Given the description of an element on the screen output the (x, y) to click on. 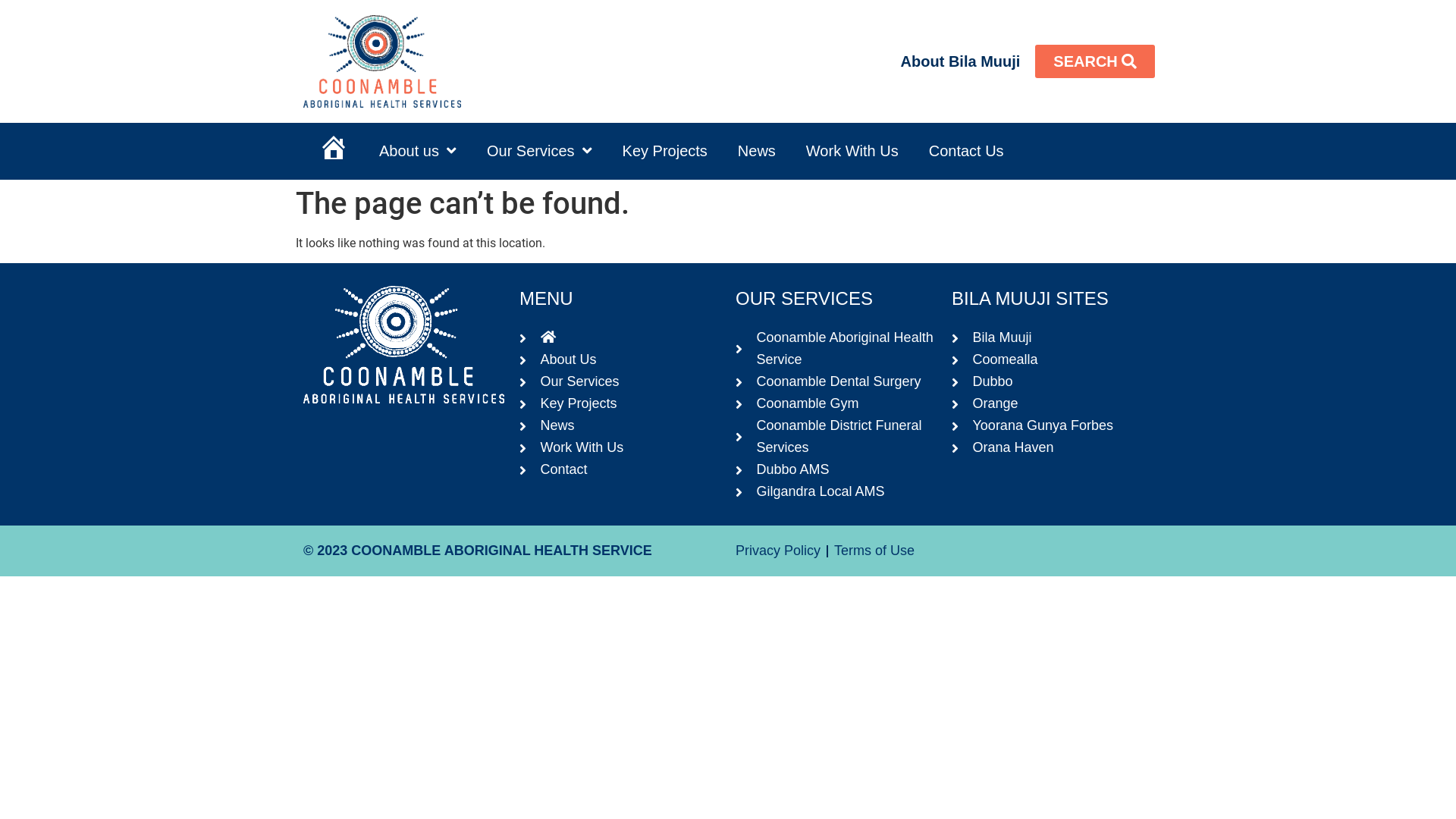
Our Services Element type: text (619, 381)
Key Projects Element type: text (619, 403)
Coonamble Aboriginal Health Service Element type: text (835, 348)
About Bila Muuji Element type: text (960, 61)
Home Element type: text (333, 151)
Orange Element type: text (1051, 403)
Yoorana Gunya Forbes Element type: text (1051, 425)
Coomealla Element type: text (1051, 359)
Bila Muuji Element type: text (1051, 337)
Coonamble District Funeral Services Element type: text (835, 436)
Work With Us Element type: text (619, 447)
Work With Us Element type: text (851, 151)
Terms of Use Element type: text (874, 550)
Dubbo Element type: text (1051, 381)
Privacy Policy Element type: text (777, 550)
Dubbo AMS Element type: text (835, 469)
About us Element type: text (417, 151)
Key Projects Element type: text (664, 151)
Gilgandra Local AMS Element type: text (835, 491)
Coonamble Dental Surgery Element type: text (835, 381)
Our Services Element type: text (539, 151)
Coonamble Gym Element type: text (835, 403)
News Element type: text (756, 151)
Contact Element type: text (619, 469)
News Element type: text (619, 425)
Contact Us Element type: text (966, 151)
SEARCH Element type: text (1094, 61)
About Us Element type: text (619, 359)
Orana Haven Element type: text (1051, 447)
